Given the description of an element on the screen output the (x, y) to click on. 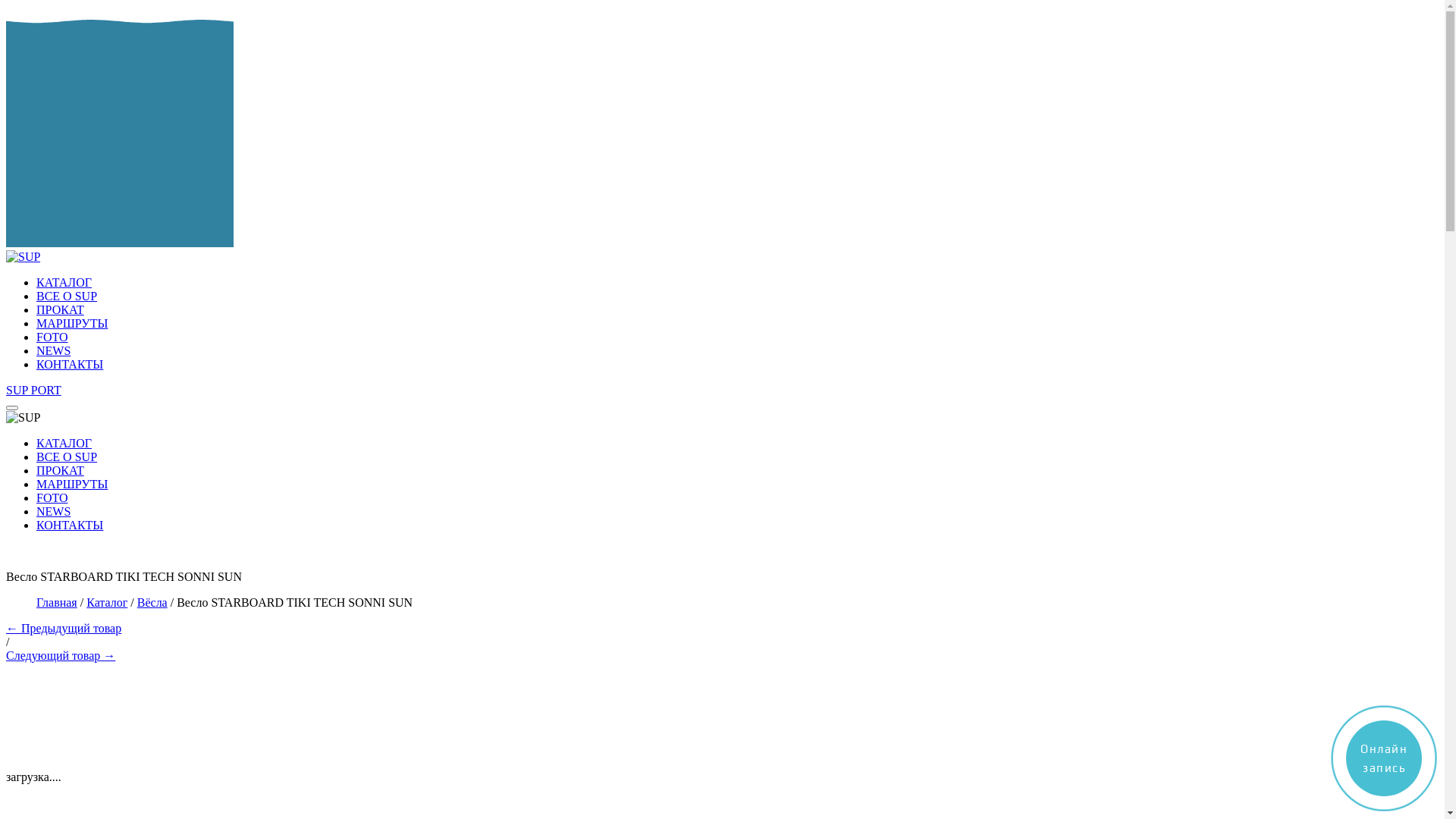
SUP PORT Element type: text (33, 389)
NEWS Element type: text (53, 511)
FOTO Element type: text (737, 336)
NEWS Element type: text (737, 350)
FOTO Element type: text (52, 497)
